Given the description of an element on the screen output the (x, y) to click on. 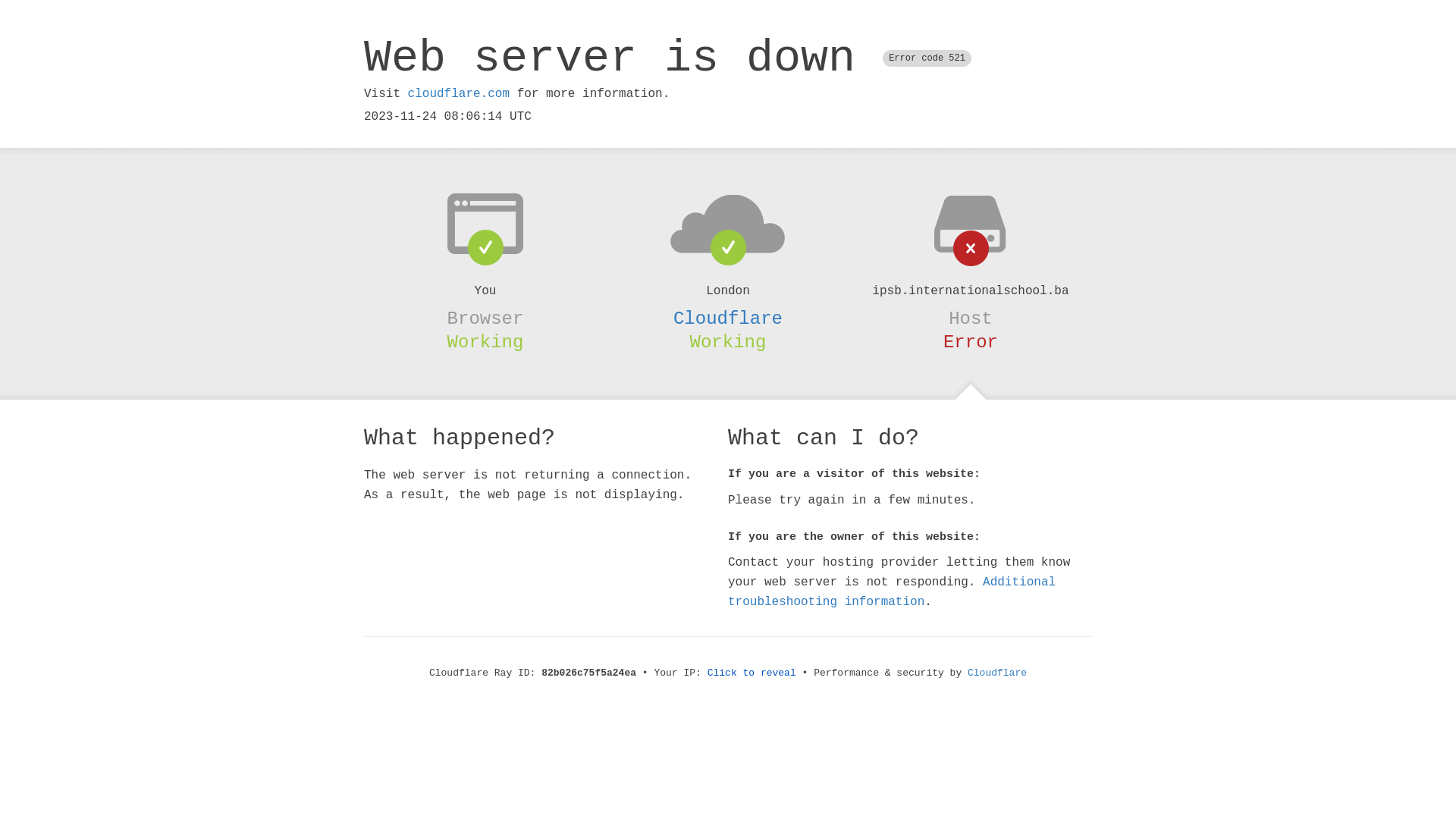
cloudflare.com Element type: text (458, 93)
Cloudflare Element type: text (727, 318)
Additional troubleshooting information Element type: text (891, 591)
Click to reveal Element type: text (751, 672)
Cloudflare Element type: text (996, 672)
